Given the description of an element on the screen output the (x, y) to click on. 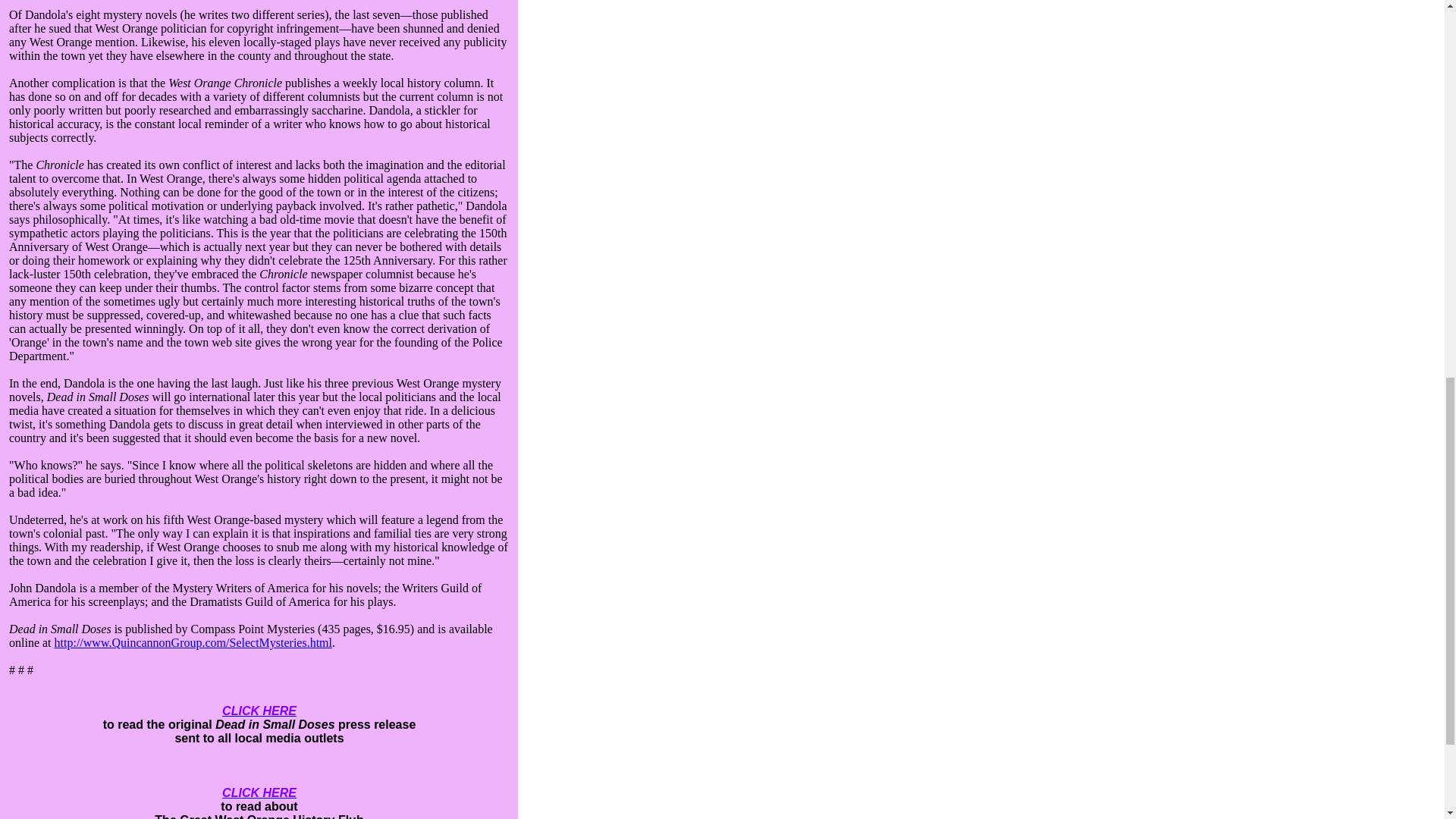
CLICK HERE (259, 710)
CLICK HERE (259, 792)
